Given the description of an element on the screen output the (x, y) to click on. 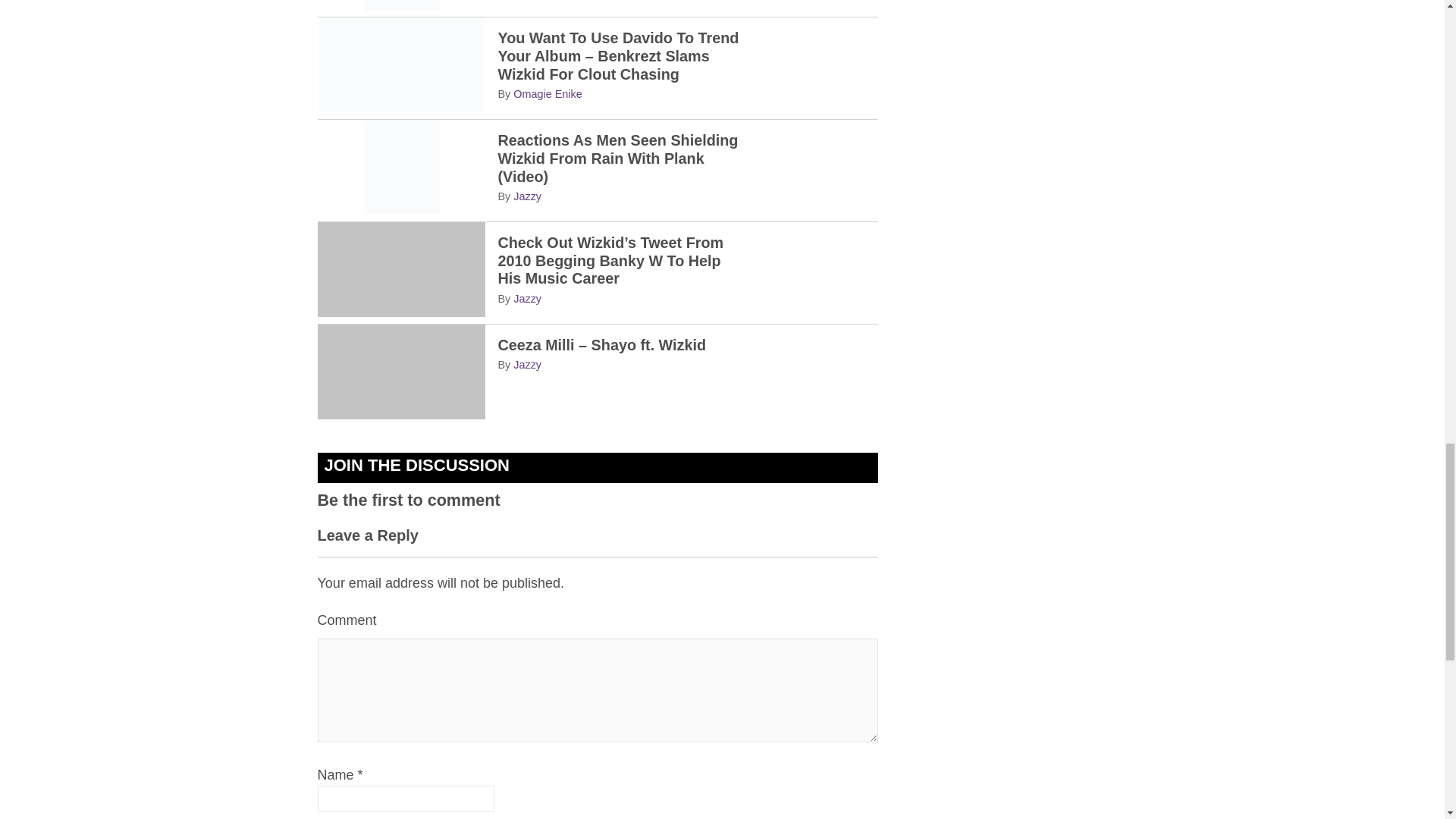
Posts by Jazzy (527, 196)
Posts by Jazzy (527, 364)
Posts by Jazzy (527, 298)
Posts by Omagie Enike (546, 93)
